Given the description of an element on the screen output the (x, y) to click on. 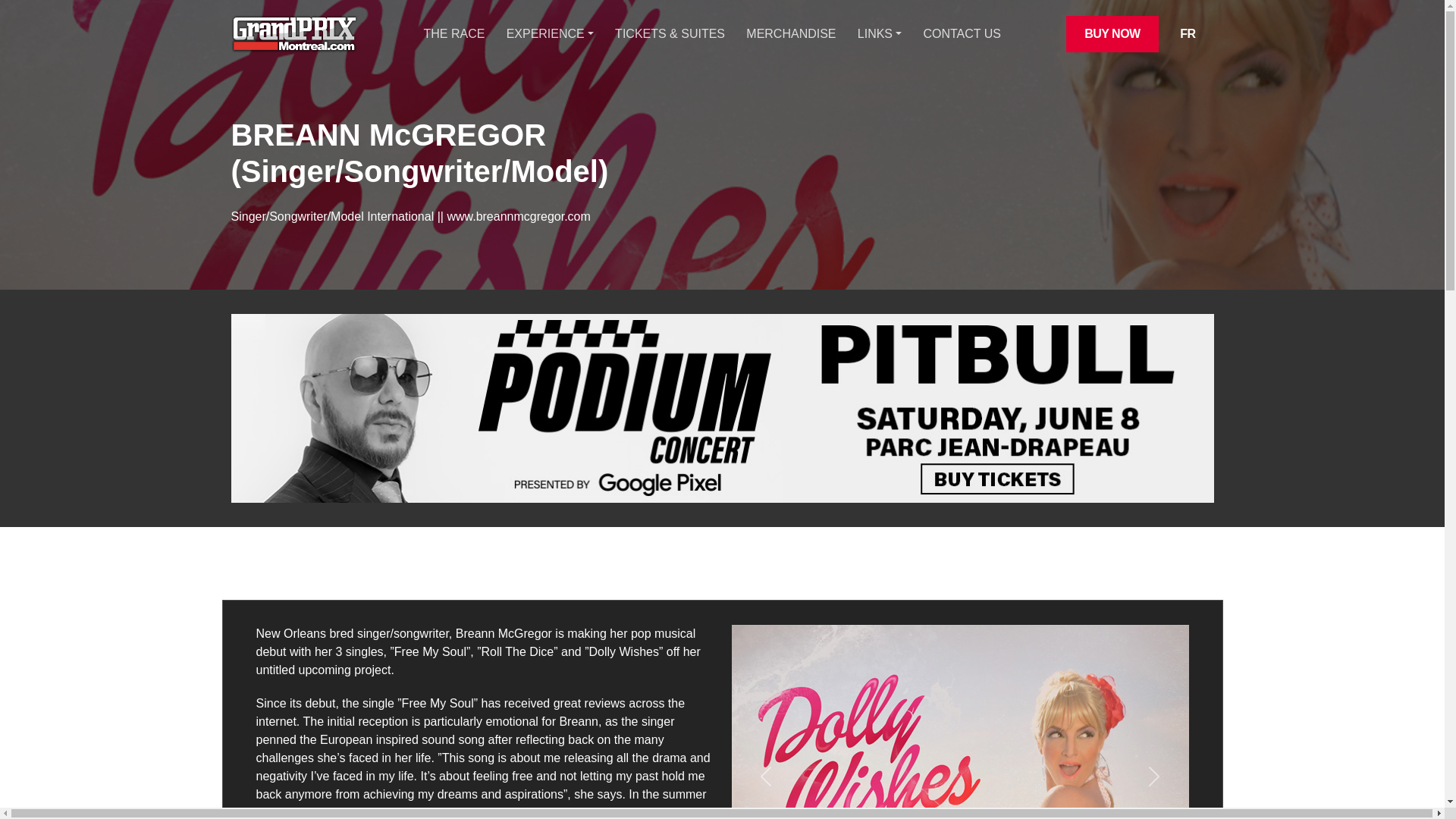
LINKS (879, 33)
FR (1186, 33)
MERCHANDISE (790, 33)
EXPERIENCE (550, 33)
CONTACT US (962, 33)
BUY NOW (1111, 33)
THE RACE (453, 33)
